Given the description of an element on the screen output the (x, y) to click on. 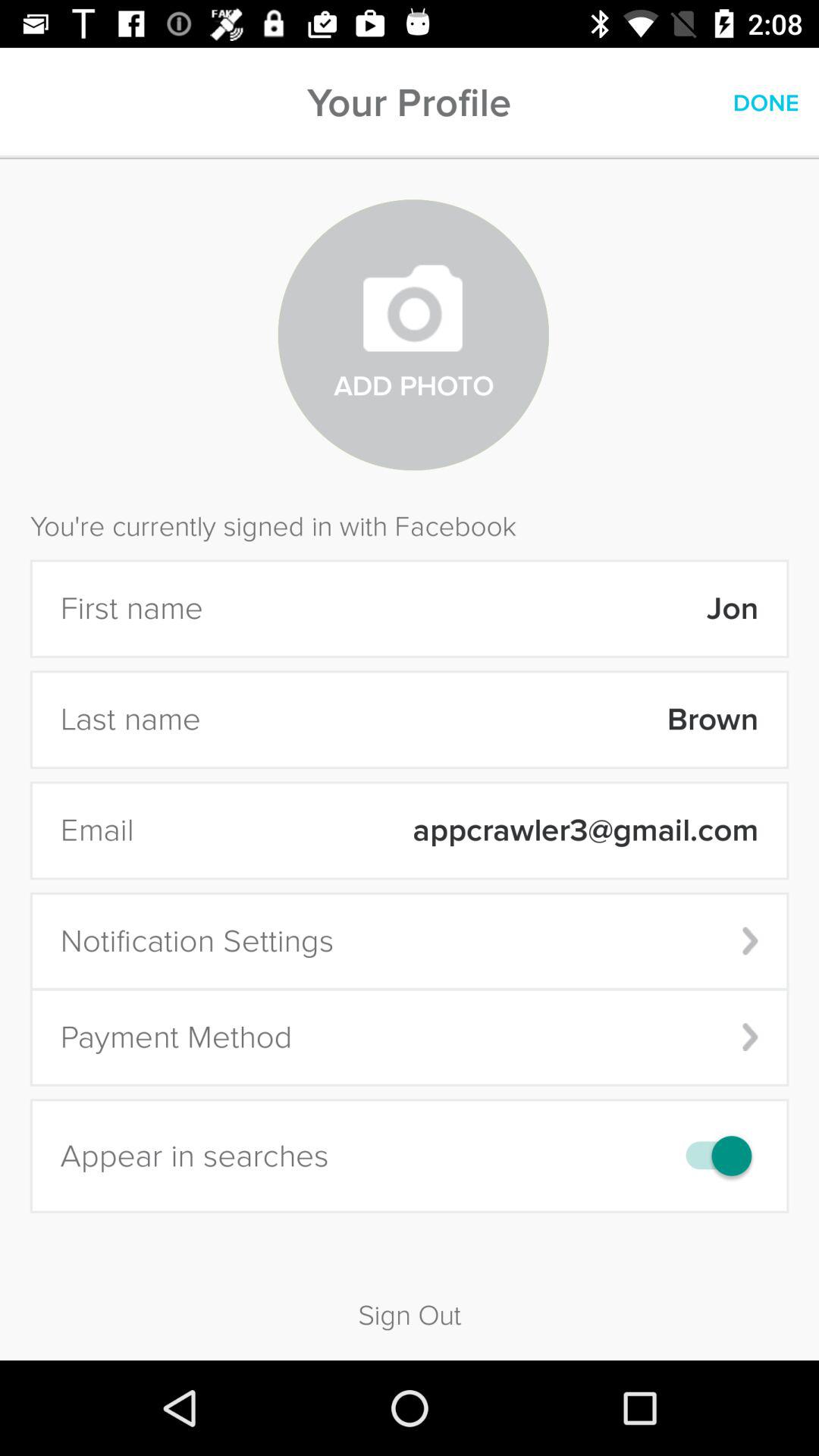
choose brown item (489, 719)
